Given the description of an element on the screen output the (x, y) to click on. 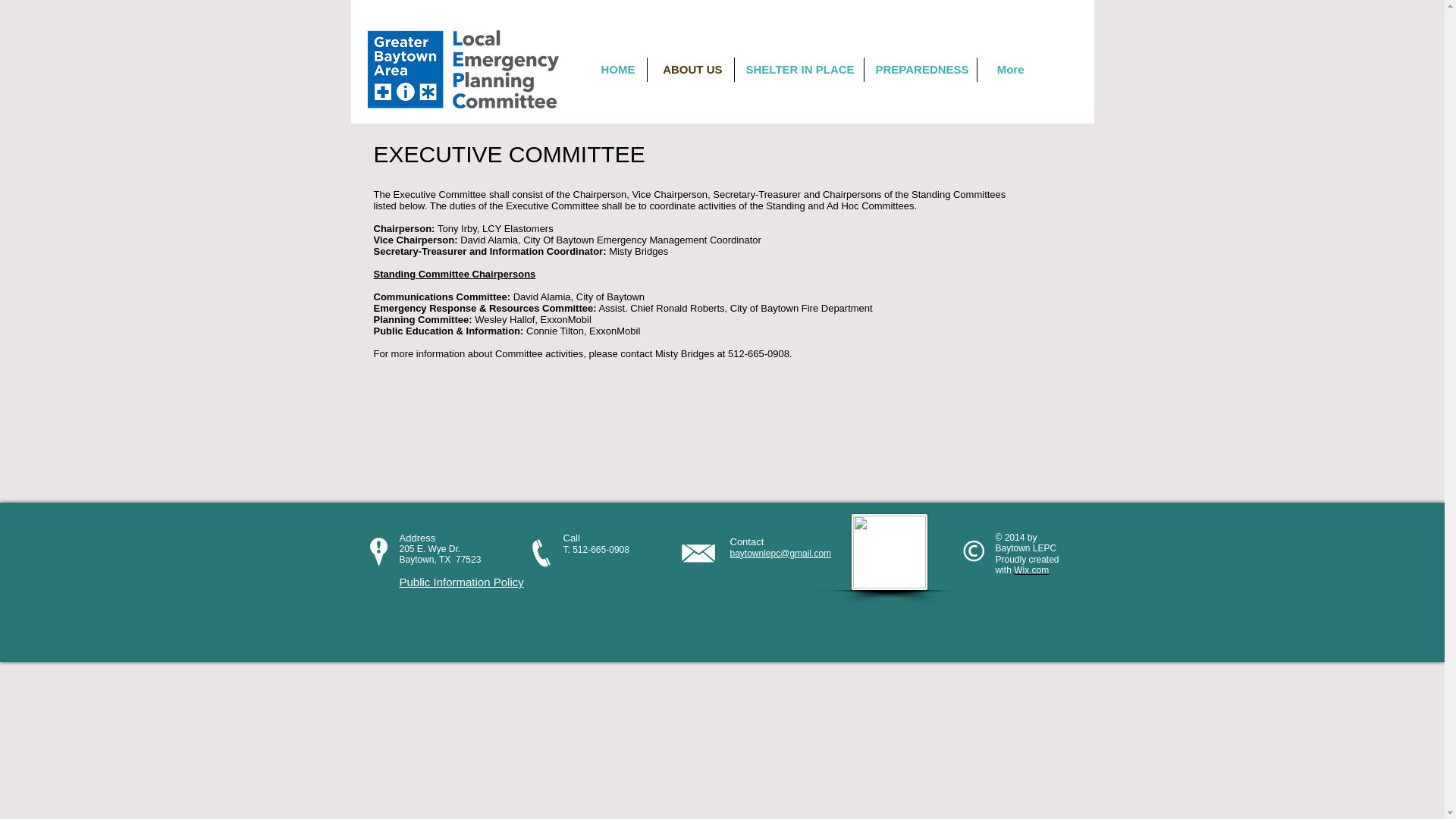
SHELTER IN PLACE (798, 69)
ABOUT US (690, 69)
Public Information Policy (460, 581)
Wix.com (1030, 570)
HOME (614, 69)
PREPAREDNESS (920, 69)
